Given the description of an element on the screen output the (x, y) to click on. 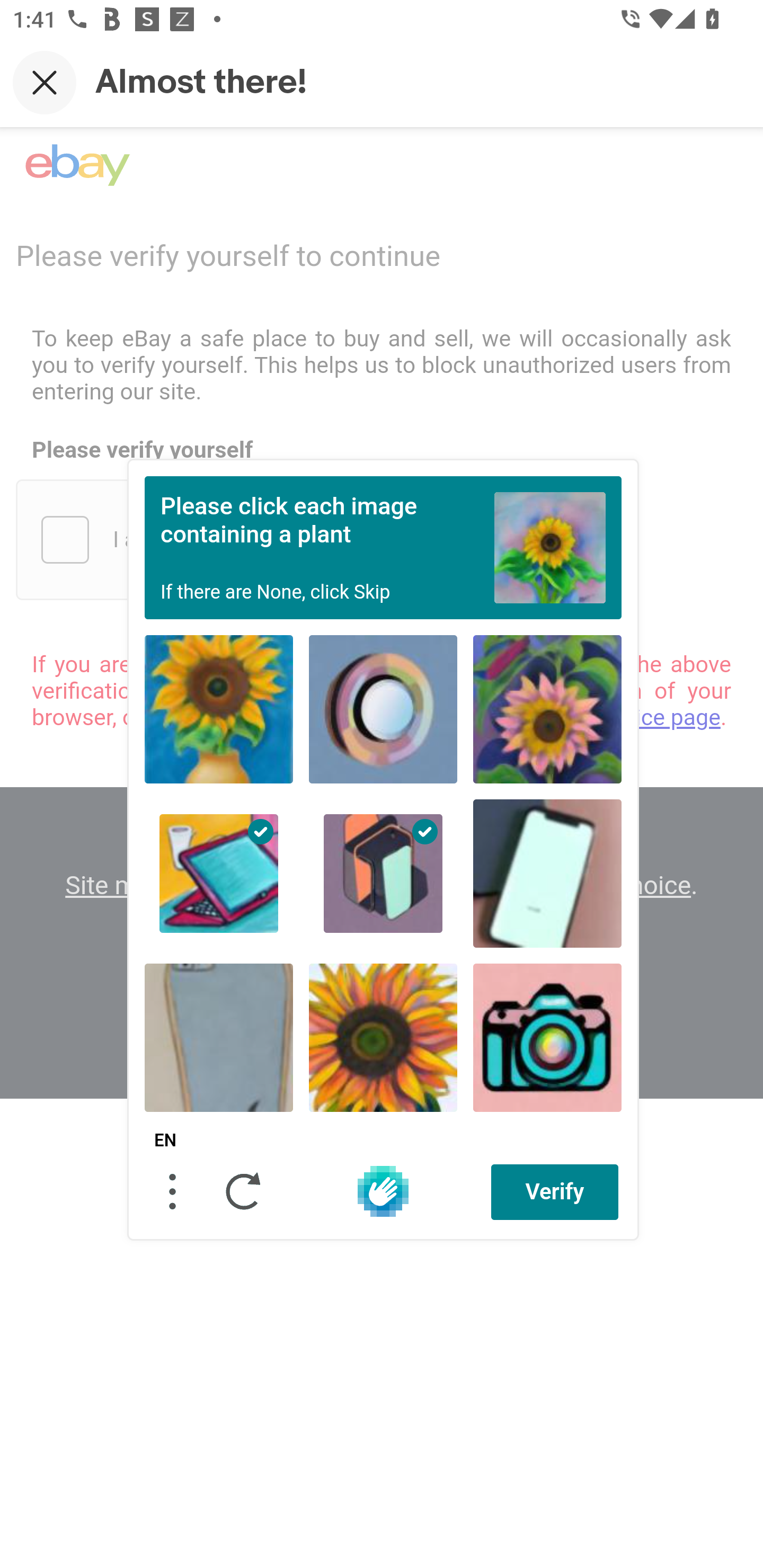
Close (44, 82)
Example image 1 (549, 546)
Challenge Image 1 (218, 708)
Challenge Image 2 (382, 708)
Challenge Image 3 (546, 708)
Challenge Image 4 (218, 873)
Challenge Image 5 (382, 873)
Challenge Image 6 (546, 873)
Challenge Image 7 (218, 1036)
Challenge Image 8 (382, 1036)
Challenge Image 9 (546, 1036)
English (165, 1140)
Verify Answers (554, 1191)
Refresh Challenge. (243, 1190)
hCaptcha (382, 1190)
